Given the description of an element on the screen output the (x, y) to click on. 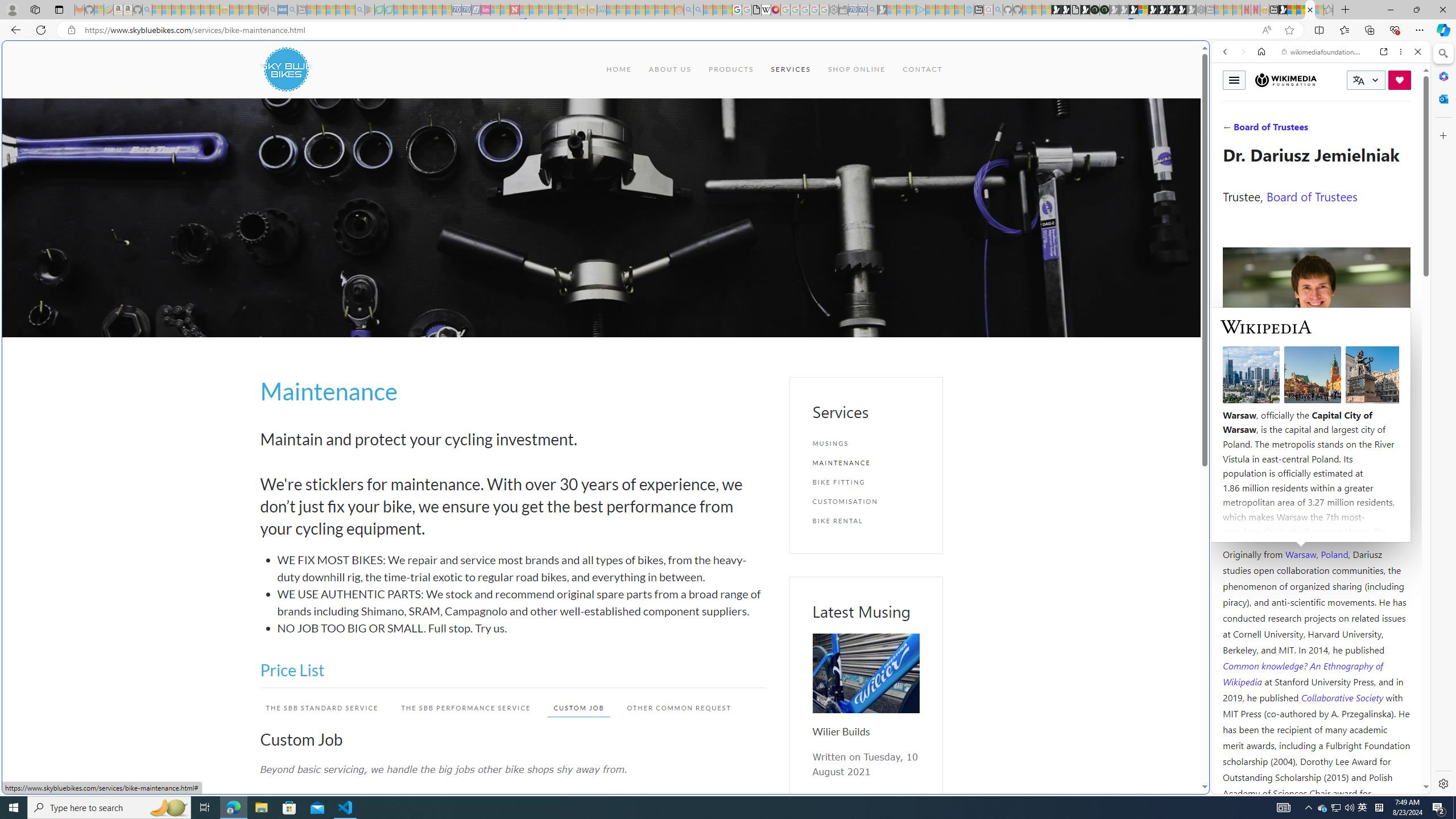
SHOP ONLINE (855, 68)
OTHER COMMON REQUEST (673, 707)
THE SBB PERFORMANCE SERVICE (460, 707)
SERVICES (790, 68)
THE SBB STANDARD SERVICE (316, 707)
CUSTOM JOB (572, 707)
google - Search - Sleeping (359, 9)
MSNBC - MSN - Sleeping (611, 9)
Search Filter, VIDEOS (1300, 129)
Services - Maintenance | Sky Blue Bikes - Sky Blue Bikes (1309, 9)
